Given the description of an element on the screen output the (x, y) to click on. 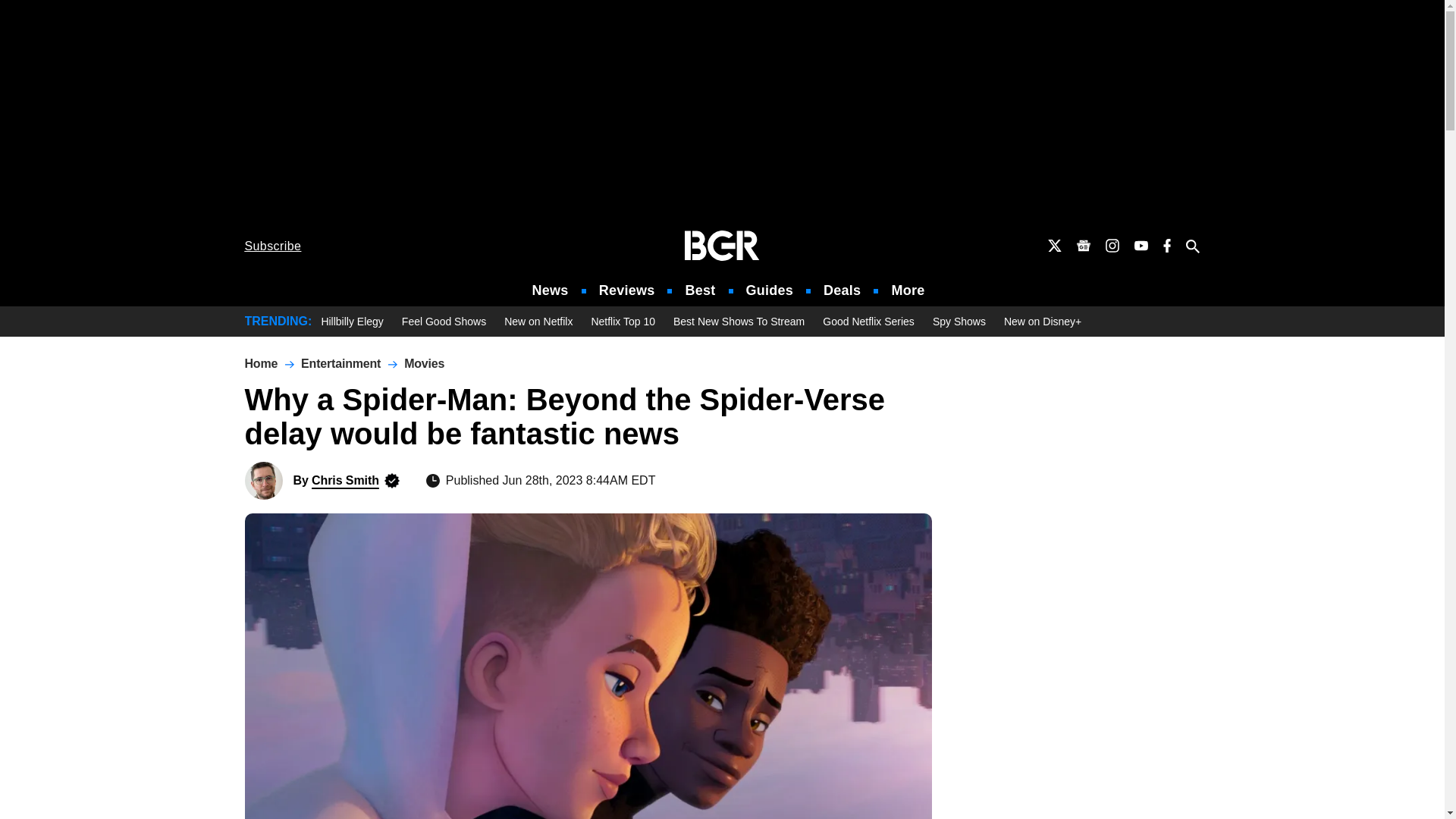
Deals (842, 290)
Reviews (626, 290)
News (550, 290)
Guides (769, 290)
Posts by Chris Smith (344, 480)
More (907, 290)
Best (699, 290)
Subscribe (272, 245)
